Given the description of an element on the screen output the (x, y) to click on. 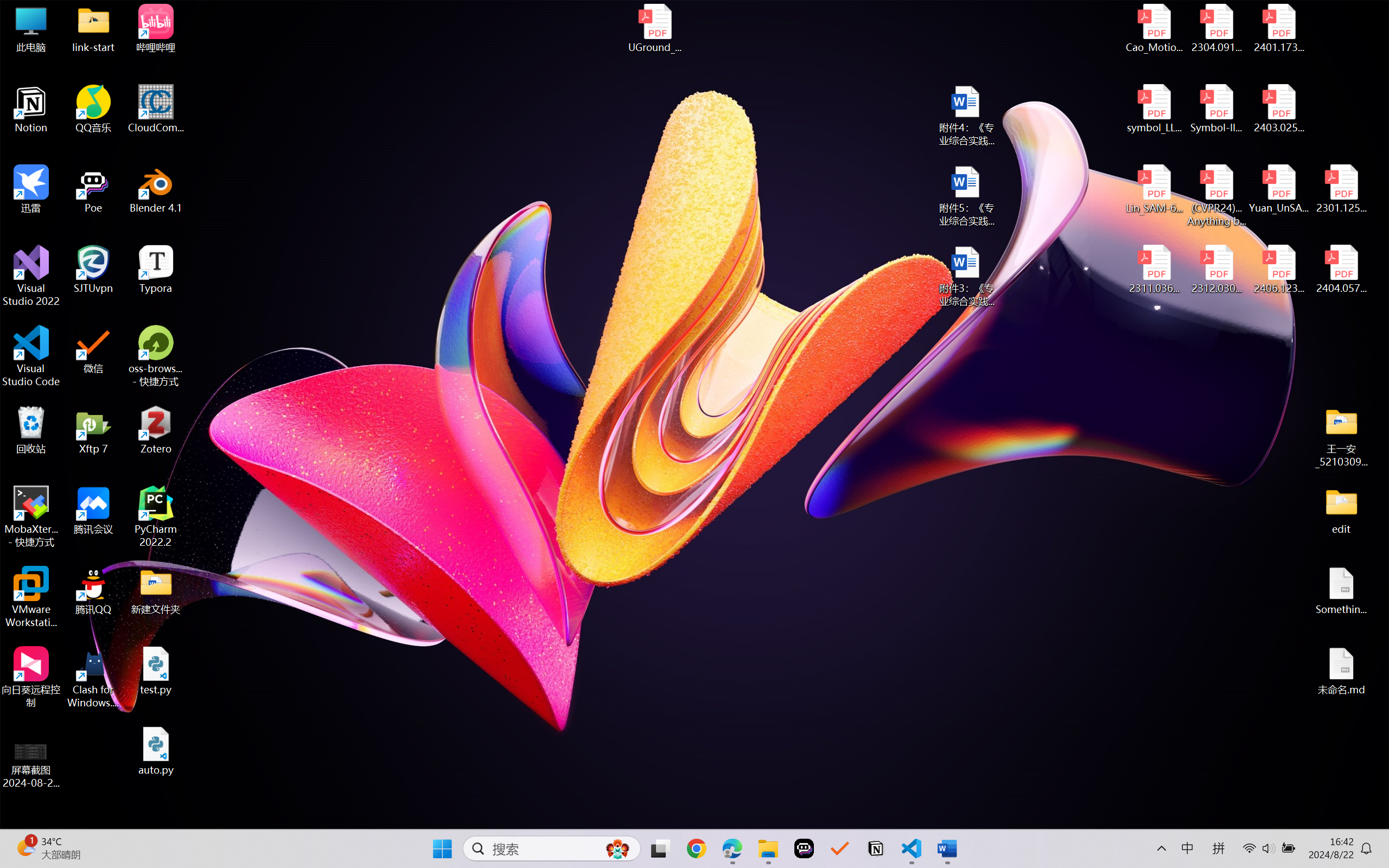
2311.03658v2.pdf (1154, 269)
Symbol-llm-v2.pdf (1216, 109)
2406.12373v2.pdf (1278, 269)
auto.py (156, 751)
Typora (156, 269)
Blender 4.1 (156, 189)
